Given the description of an element on the screen output the (x, y) to click on. 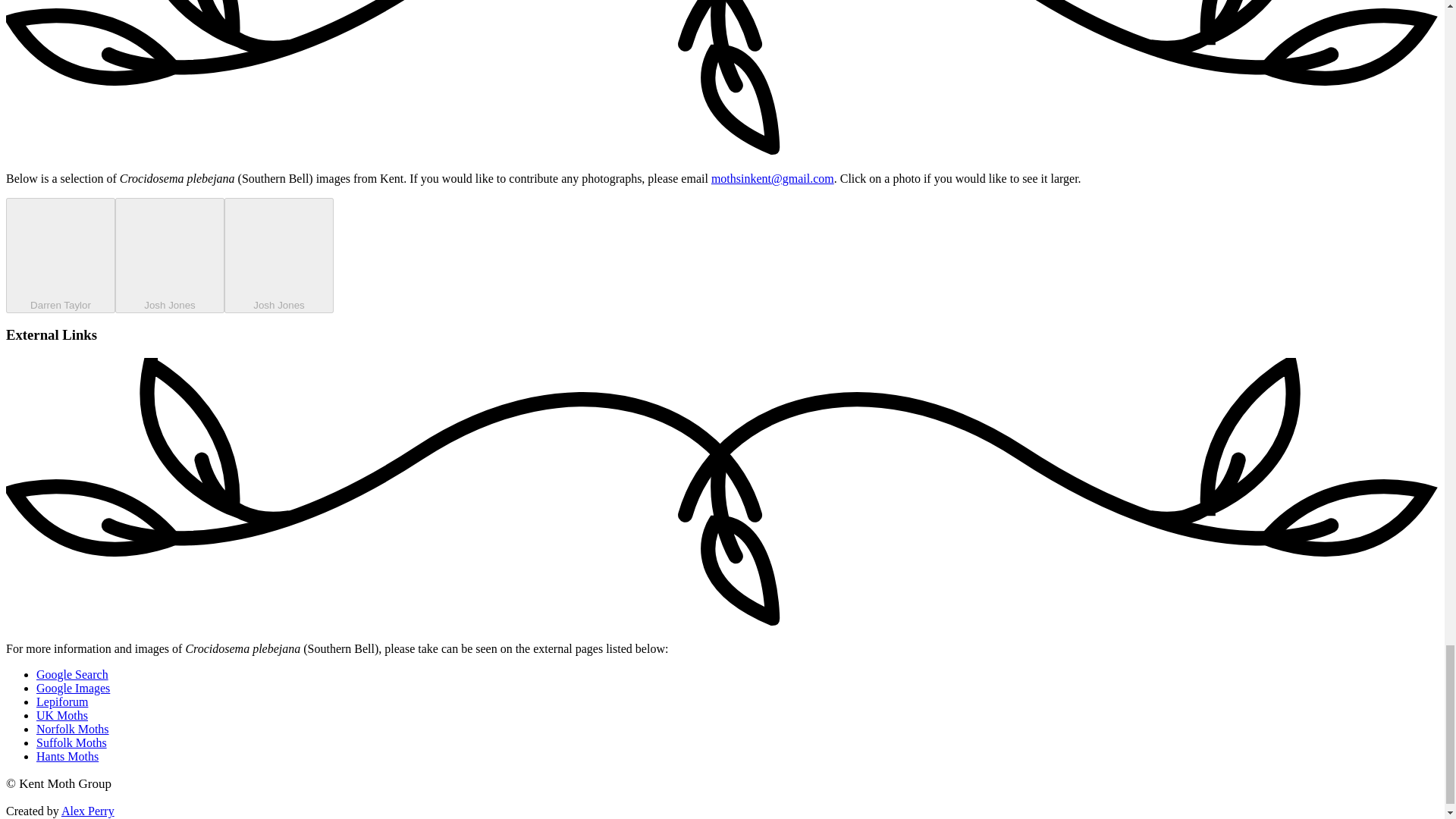
Google Search (71, 674)
Alex Perry (88, 810)
UK Moths (61, 715)
Josh Jones (278, 255)
Lepiforum (61, 701)
Darren Taylor (60, 255)
Suffolk Moths (71, 742)
Norfolk Moths (72, 728)
Hants Moths (67, 756)
Josh Jones (169, 255)
Google Images (73, 687)
